Given the description of an element on the screen output the (x, y) to click on. 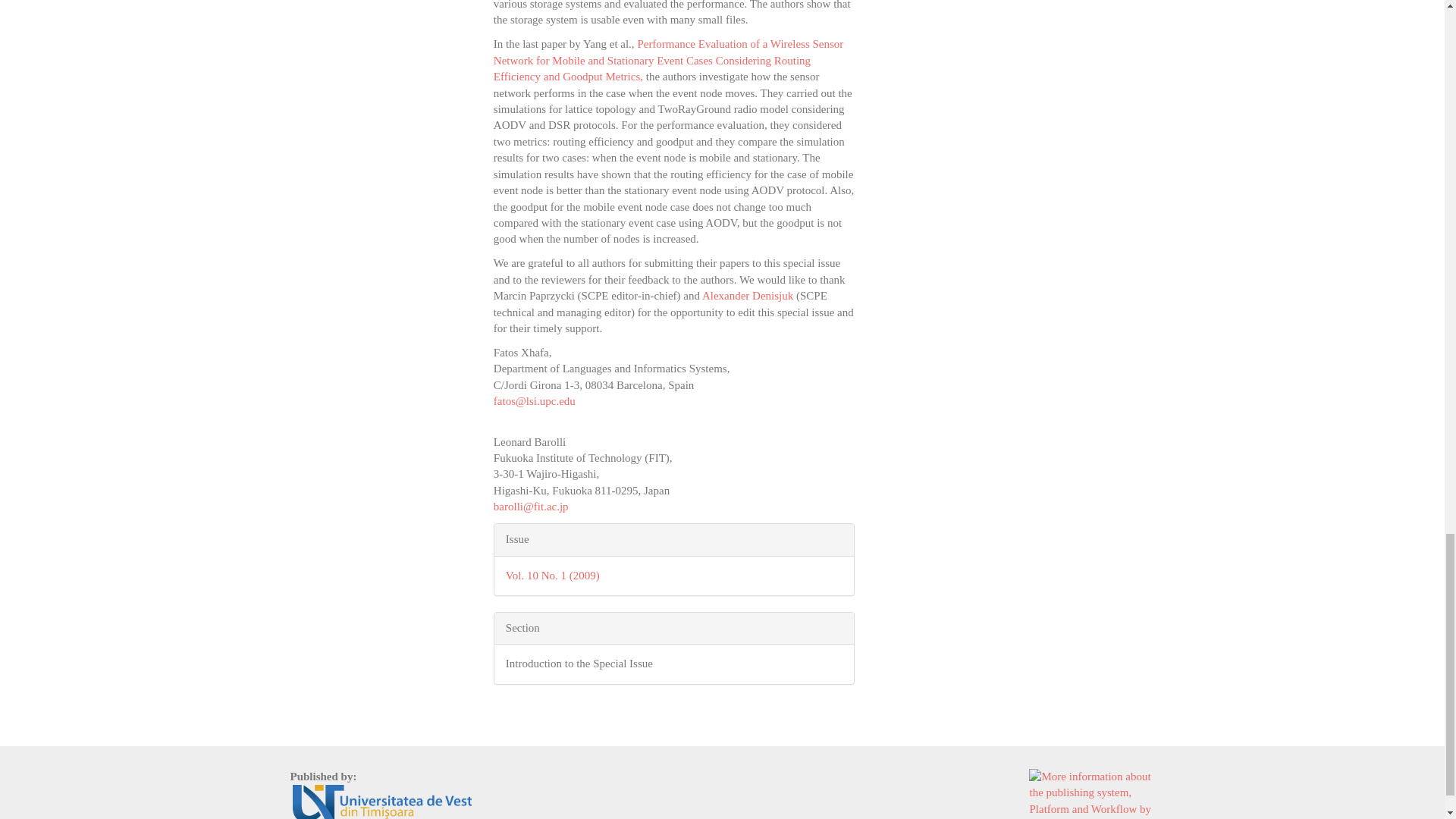
Alexander Denisjuk (747, 295)
Universitatea de Vest din Timisoara (381, 802)
